Given the description of an element on the screen output the (x, y) to click on. 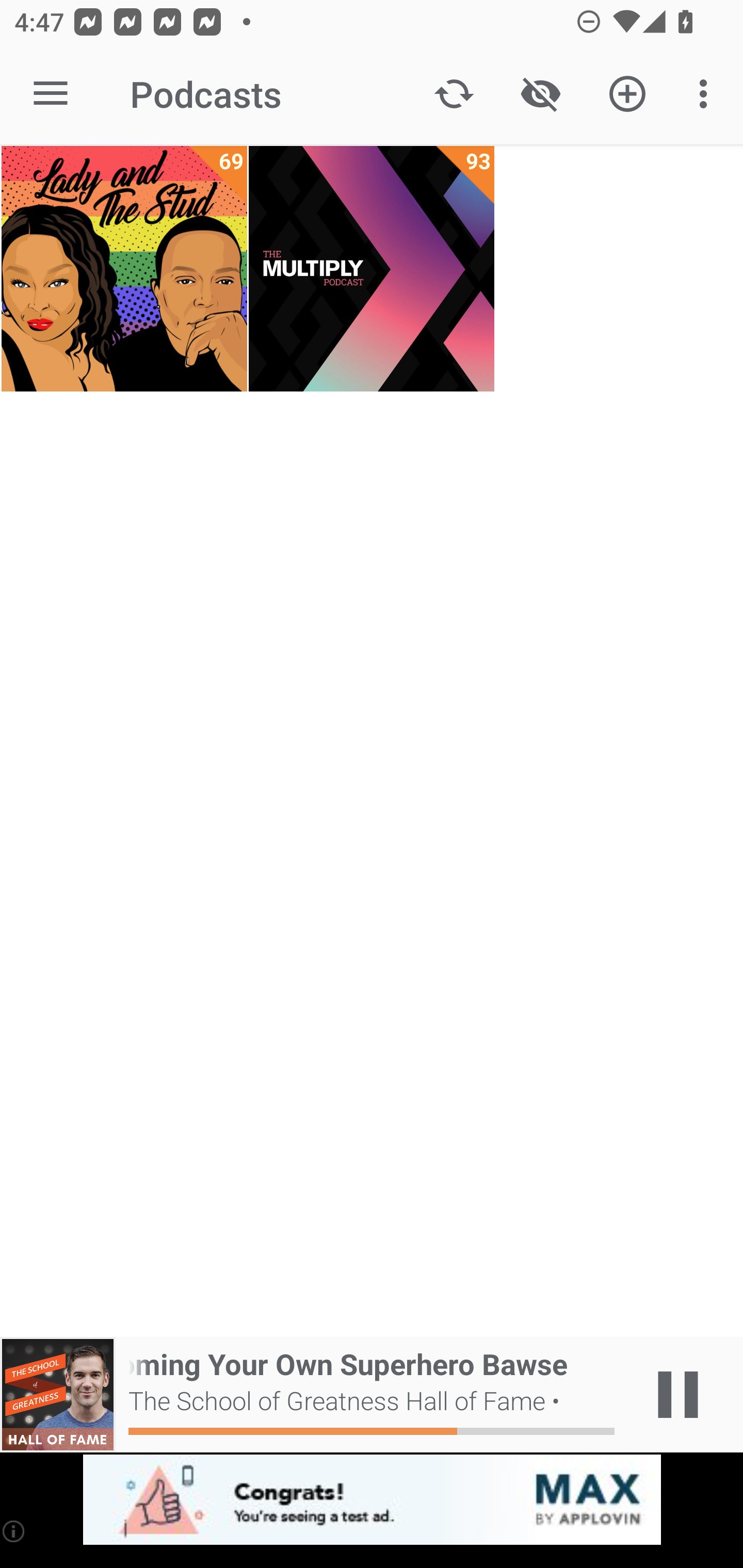
Open navigation sidebar (50, 93)
Update (453, 93)
Show / Hide played content (540, 93)
Add new Podcast (626, 93)
More options (706, 93)
Lady and The Stud 69 (124, 268)
The Multiply Podcast 93 (371, 268)
Play / Pause (677, 1394)
app-monetization (371, 1500)
(i) (14, 1531)
